Given the description of an element on the screen output the (x, y) to click on. 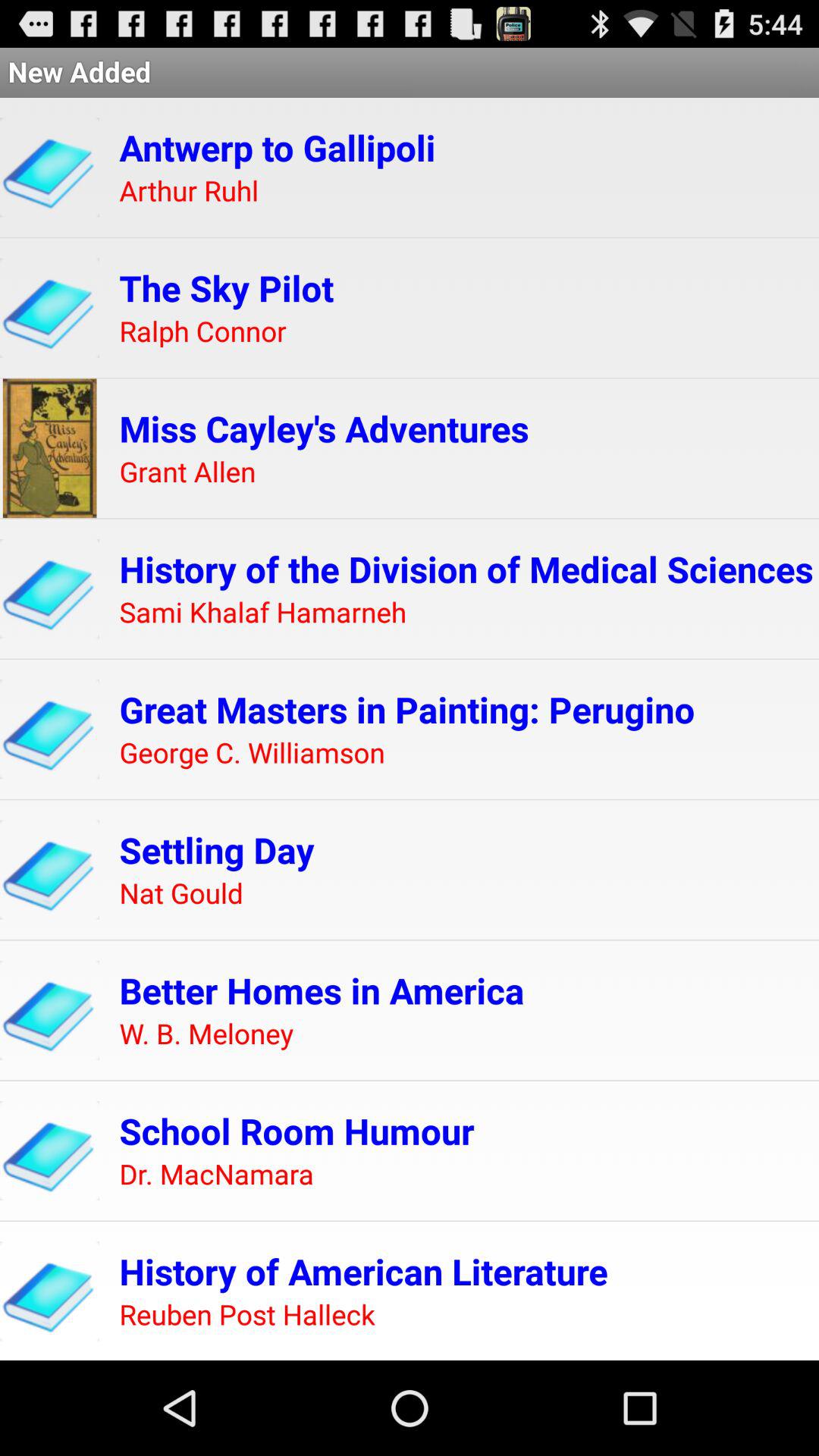
press icon above the nat gould item (216, 849)
